Given the description of an element on the screen output the (x, y) to click on. 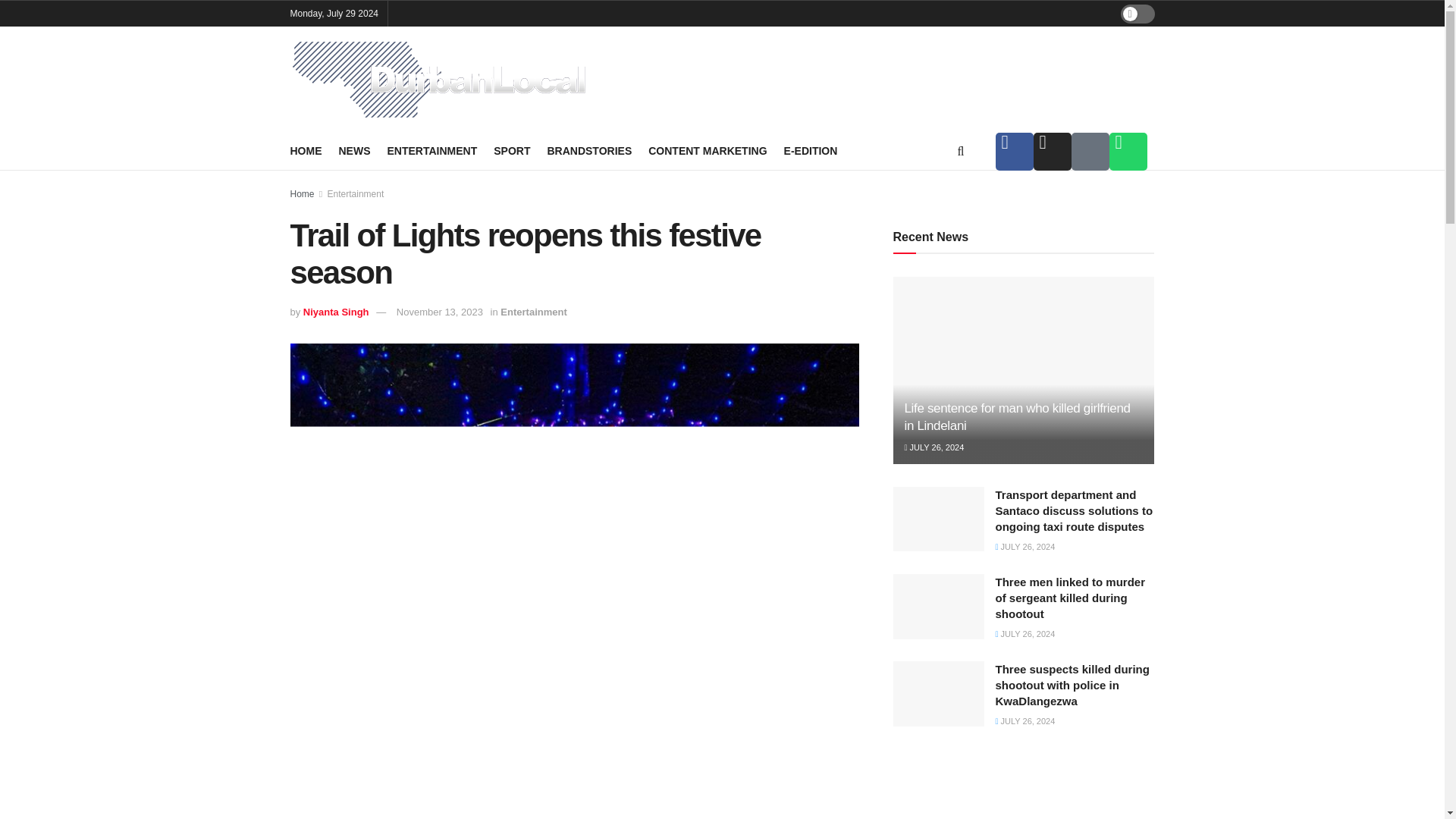
Entertainment (533, 311)
November 13, 2023 (439, 311)
BRANDSTORIES (589, 150)
ENTERTAINMENT (432, 150)
E-EDITION (811, 150)
Home (301, 194)
NEWS (353, 150)
HOME (305, 150)
Niyanta Singh (335, 311)
SPORT (511, 150)
CONTENT MARKETING (707, 150)
Entertainment (355, 194)
